Given the description of an element on the screen output the (x, y) to click on. 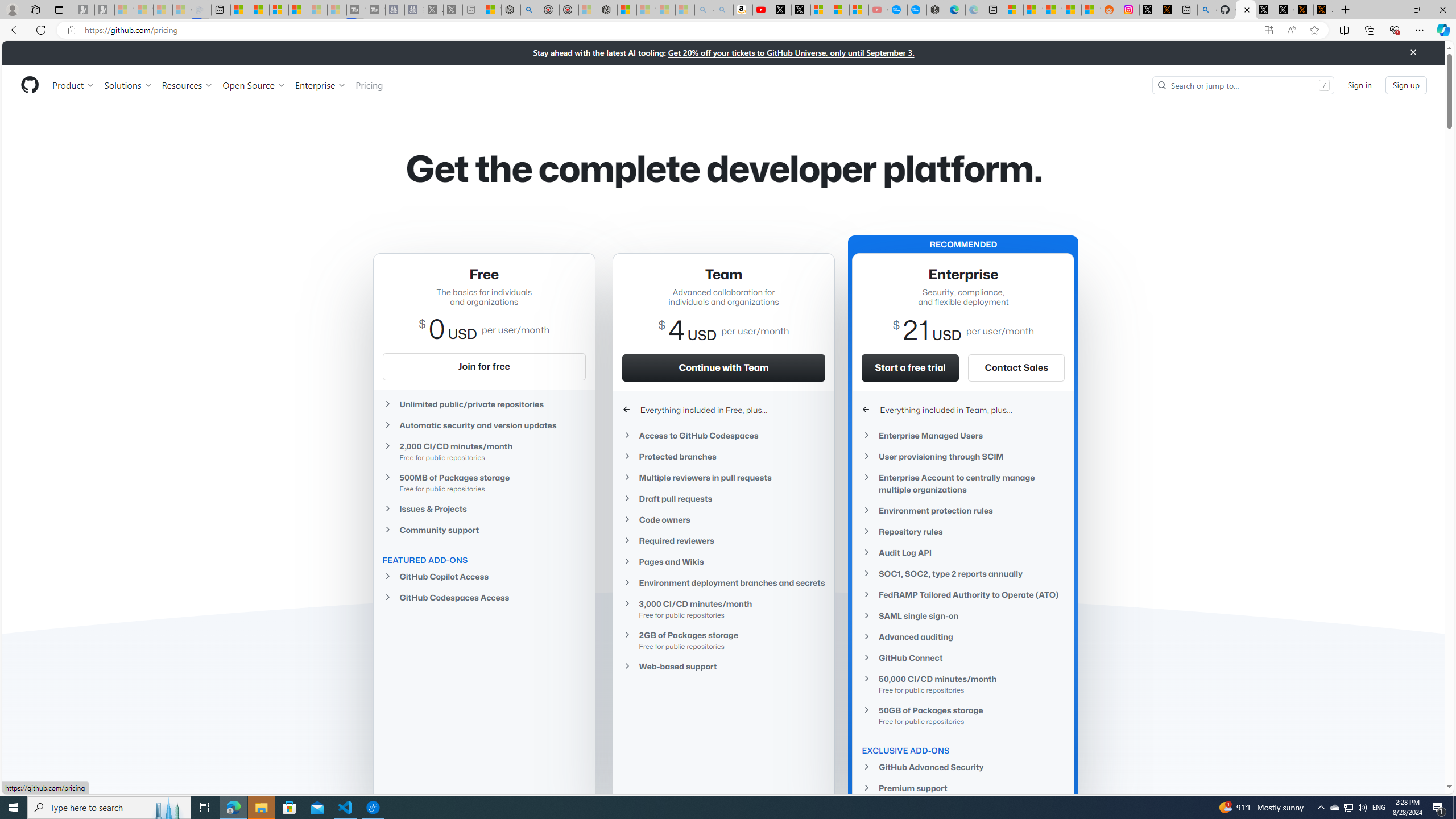
New tab - Sleeping (471, 9)
Everything included in Team, plus... (963, 409)
Required reviewers (723, 540)
Premium support (963, 788)
Environment protection rules (963, 510)
Contact Sales (1015, 367)
Everything included in Free, plus... (723, 409)
Access to GitHub Codespaces (723, 435)
